Given the description of an element on the screen output the (x, y) to click on. 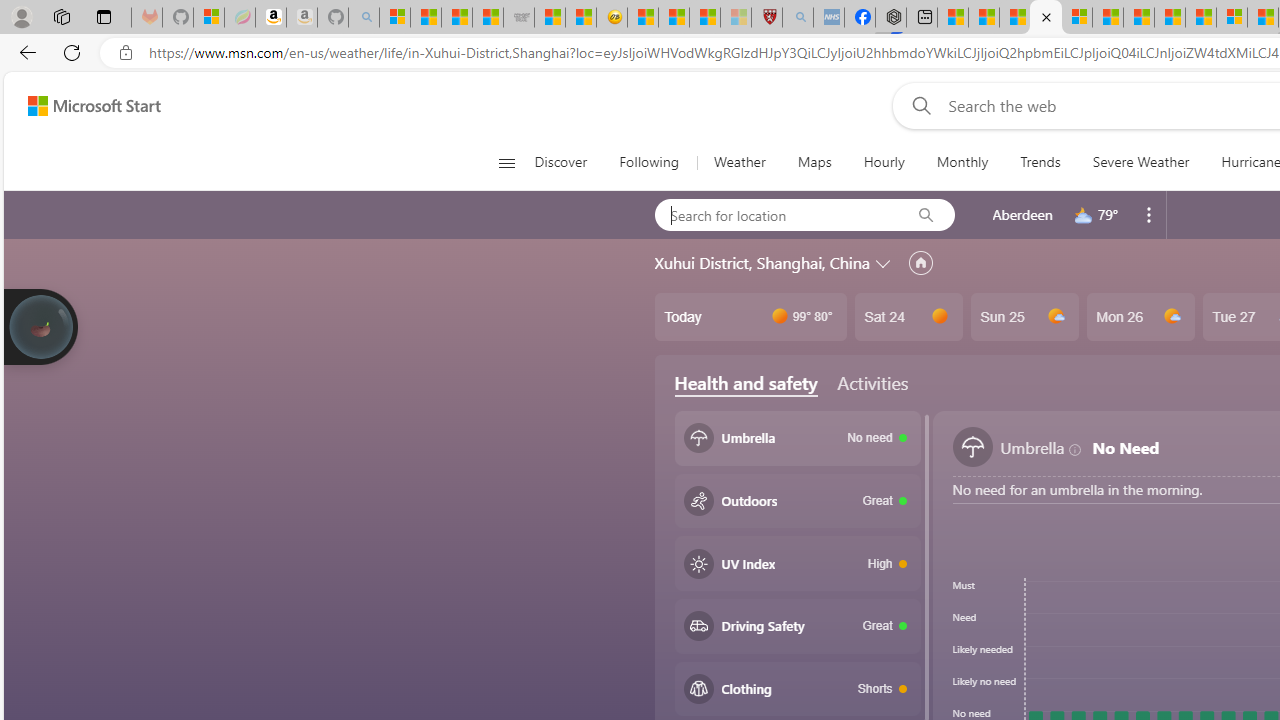
Severe Weather (1140, 162)
Health and safety (745, 383)
Aberdeen (1022, 214)
Umbrella No need (797, 438)
Close tab (1046, 16)
Maps (814, 162)
Monthly (962, 162)
Hourly (884, 162)
Weather (739, 162)
Workspaces (61, 16)
Skip to content (86, 105)
Robert H. Shmerling, MD - Harvard Health (766, 17)
